Given the description of an element on the screen output the (x, y) to click on. 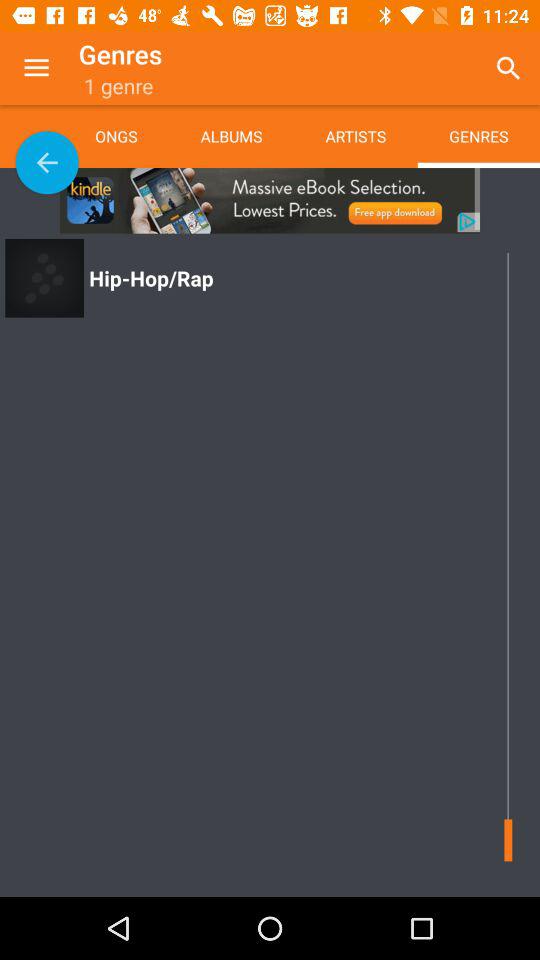
launch icon to the right of songs (231, 136)
